Given the description of an element on the screen output the (x, y) to click on. 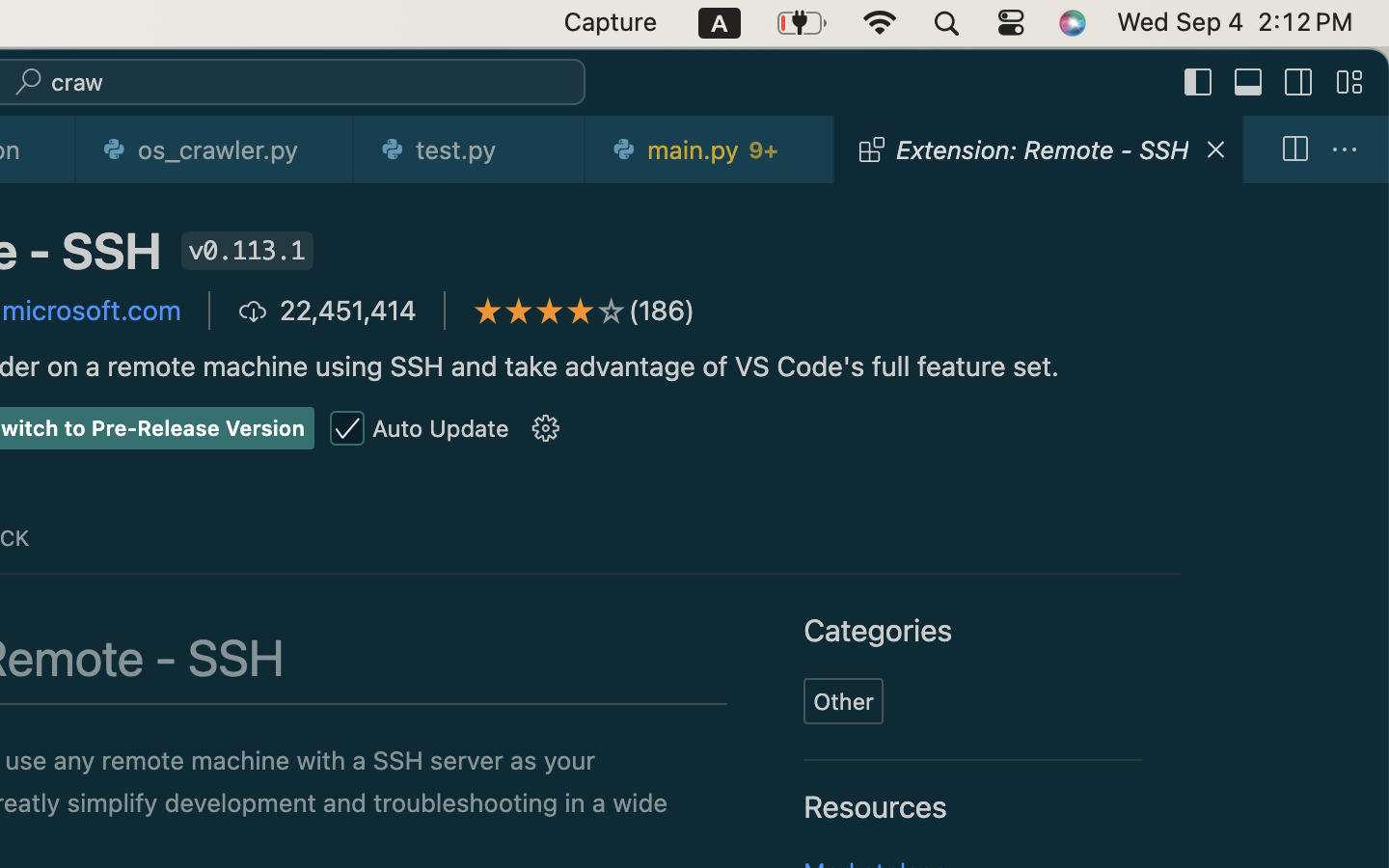
Other Element type: AXGroup (844, 701)
1 Extension: Remote - SSH   Element type: AXRadioButton (1039, 149)
 Element type: AXCheckBox (1299, 82)
craw Element type: AXStaticText (78, 82)
Resources Element type: AXStaticText (875, 806)
